Given the description of an element on the screen output the (x, y) to click on. 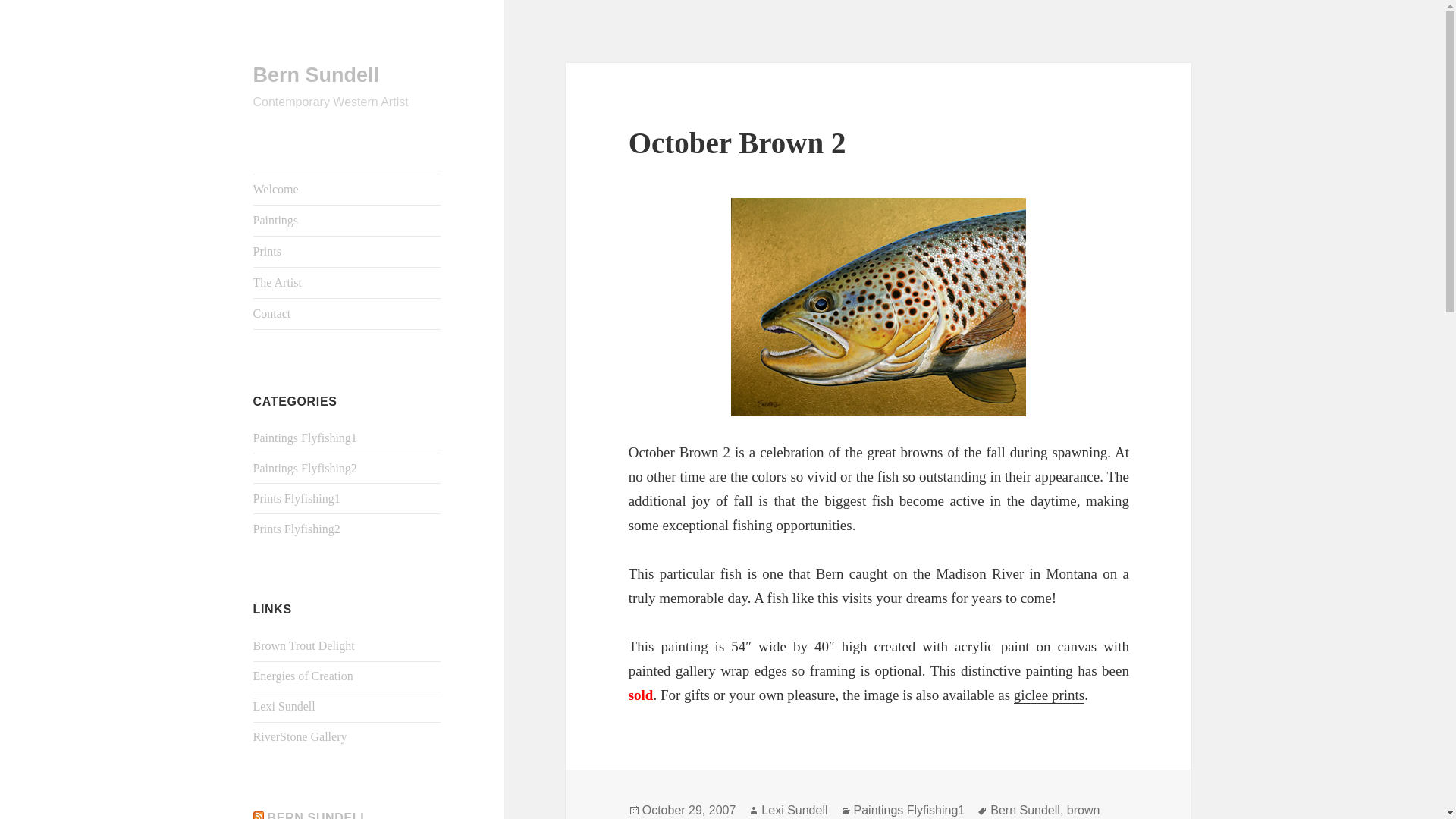
Brown Trout Delight (304, 645)
Prints Flyfishing2 (296, 528)
Paintings Flyfishing2 (304, 468)
Lexi Sundell (284, 706)
Lexi Sundell (794, 810)
October Brown 2 Giclee (1048, 695)
Paintings (347, 220)
Bern Sundell (1024, 810)
The Artist (347, 282)
Prints Flyfishing1 (296, 498)
Welcome (347, 189)
BERN SUNDELL (317, 815)
Contact (347, 313)
giclee prints (1048, 695)
